Given the description of an element on the screen output the (x, y) to click on. 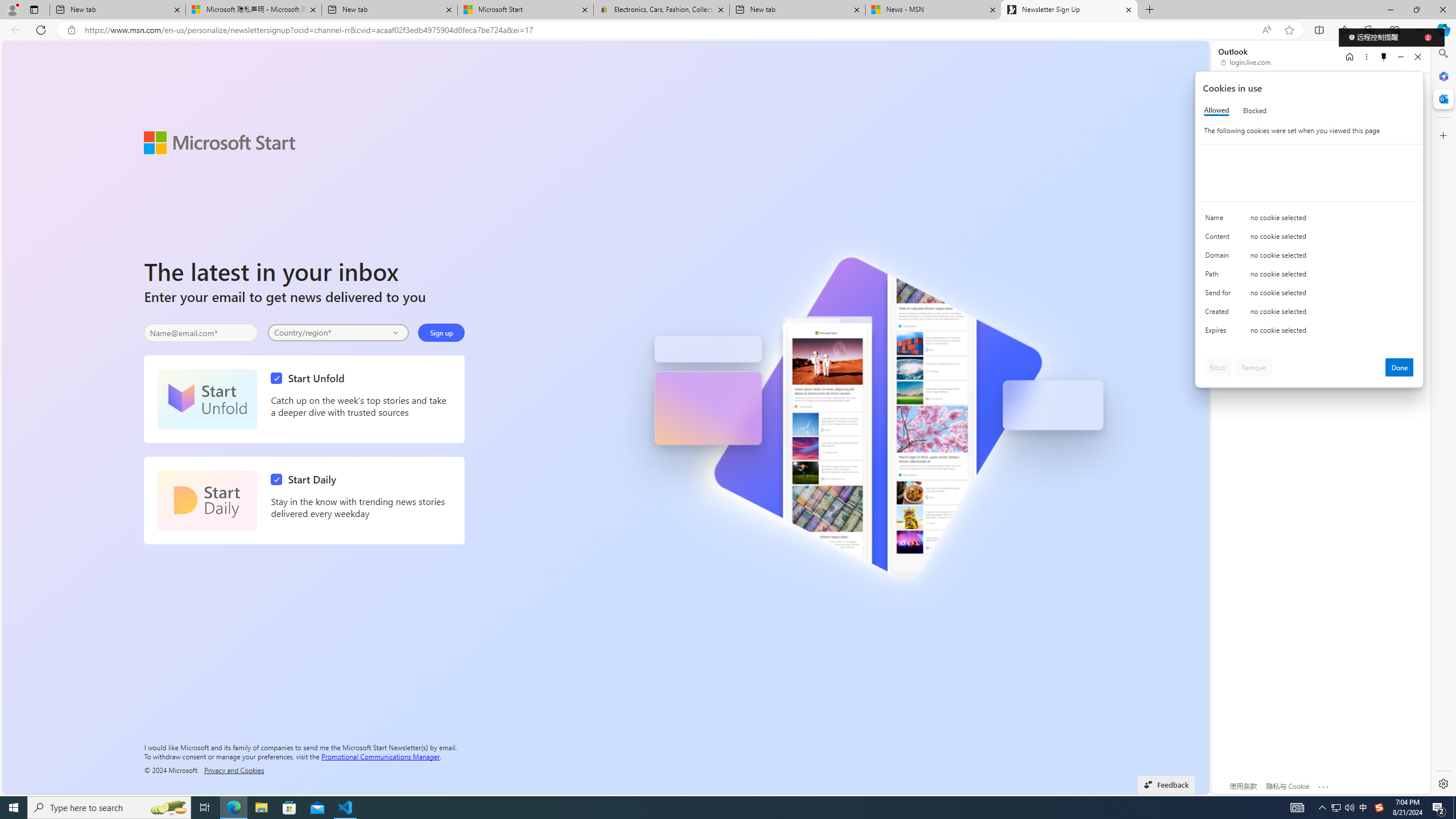
login.live.com (1246, 61)
News - MSN (933, 9)
Content (1219, 239)
Start Daily (207, 500)
Outlook (1442, 98)
Start Daily (306, 479)
Created (1219, 313)
Done (1399, 367)
Microsoft (1255, 93)
